Given the description of an element on the screen output the (x, y) to click on. 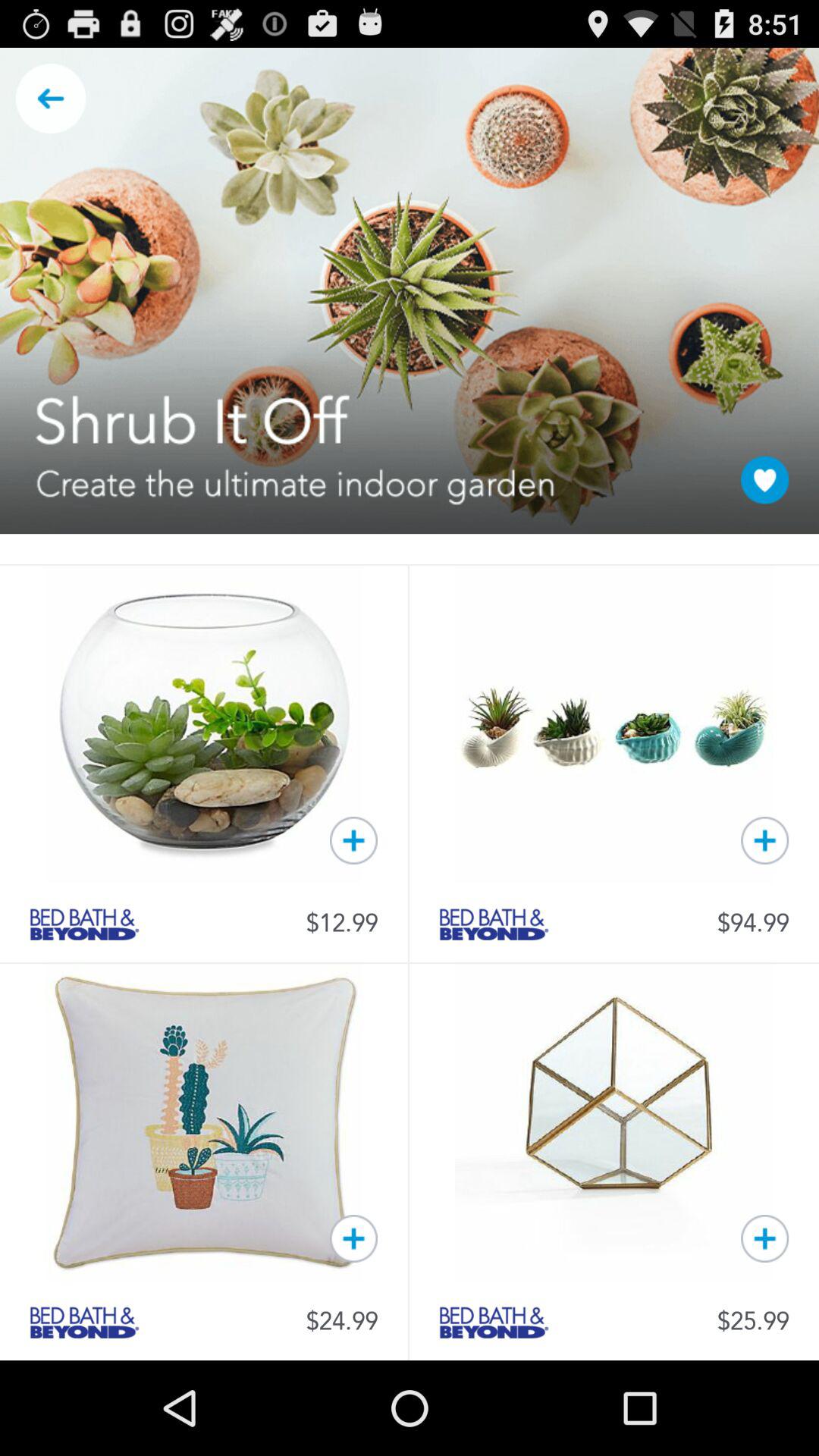
add to favorites (764, 1238)
